Given the description of an element on the screen output the (x, y) to click on. 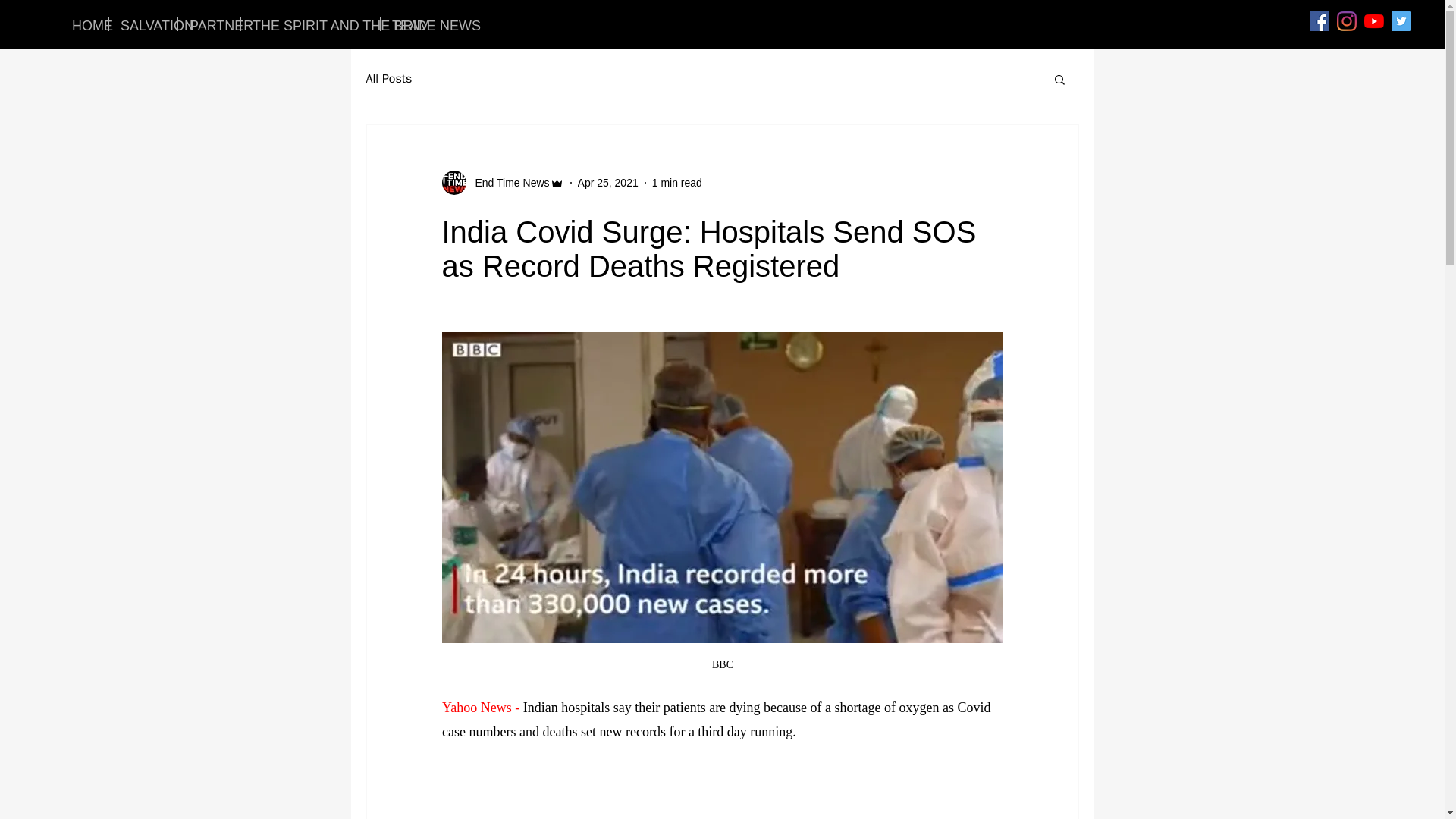
THE SPIRIT AND THE BRIDE (310, 23)
TEAM (404, 23)
NEWS (452, 23)
End Time News (506, 182)
Apr 25, 2021 (608, 182)
HOME (84, 23)
All Posts (388, 78)
SALVATION (143, 23)
1 min read (676, 182)
PARTNER (208, 23)
